Given the description of an element on the screen output the (x, y) to click on. 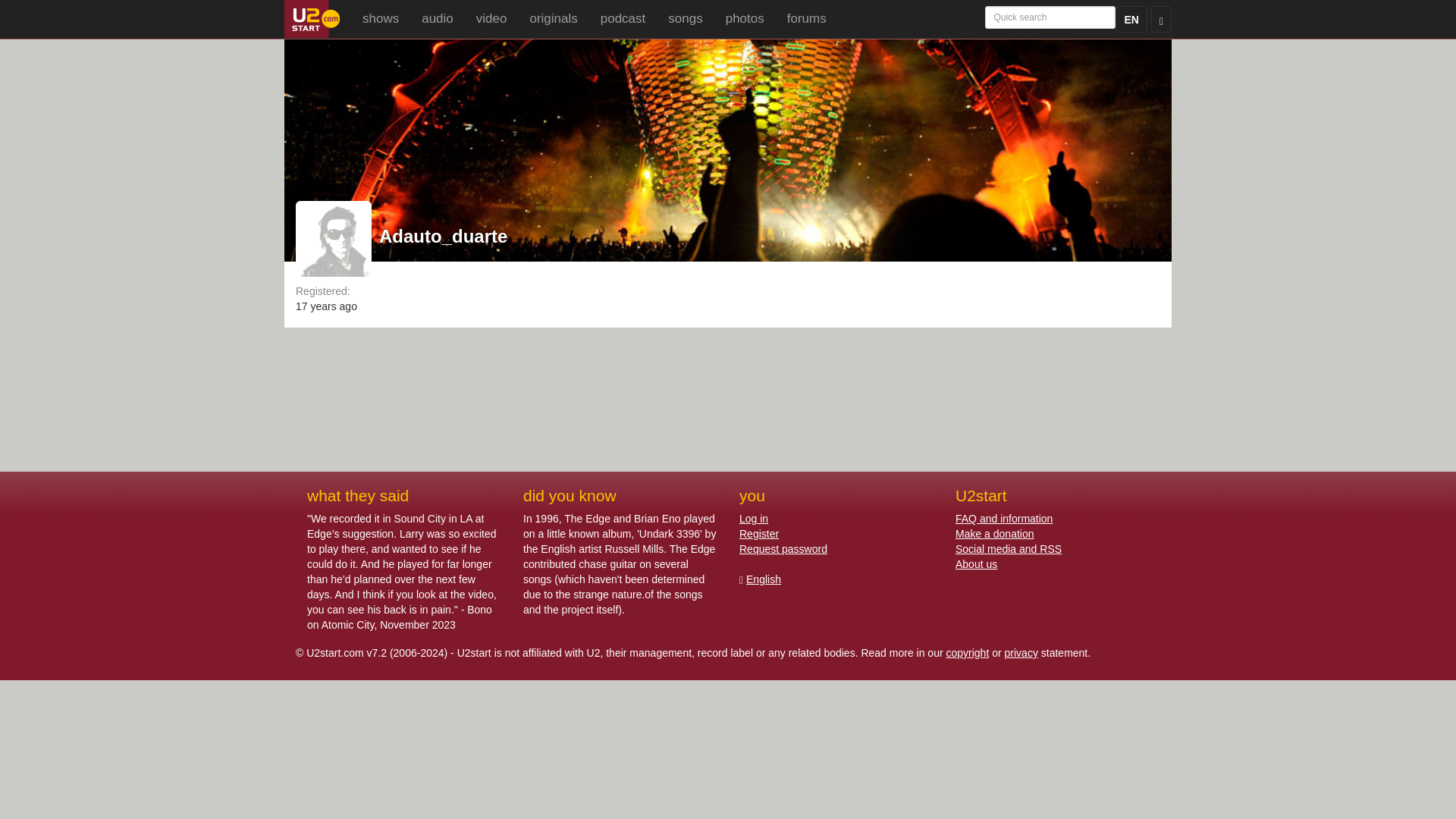
Request password (783, 548)
Switch language (1131, 18)
podcast (623, 18)
photos (745, 18)
shows (380, 18)
privacy (1021, 653)
Request password (783, 548)
FAQ and information (1003, 518)
About us (976, 563)
Register (758, 533)
